Given the description of an element on the screen output the (x, y) to click on. 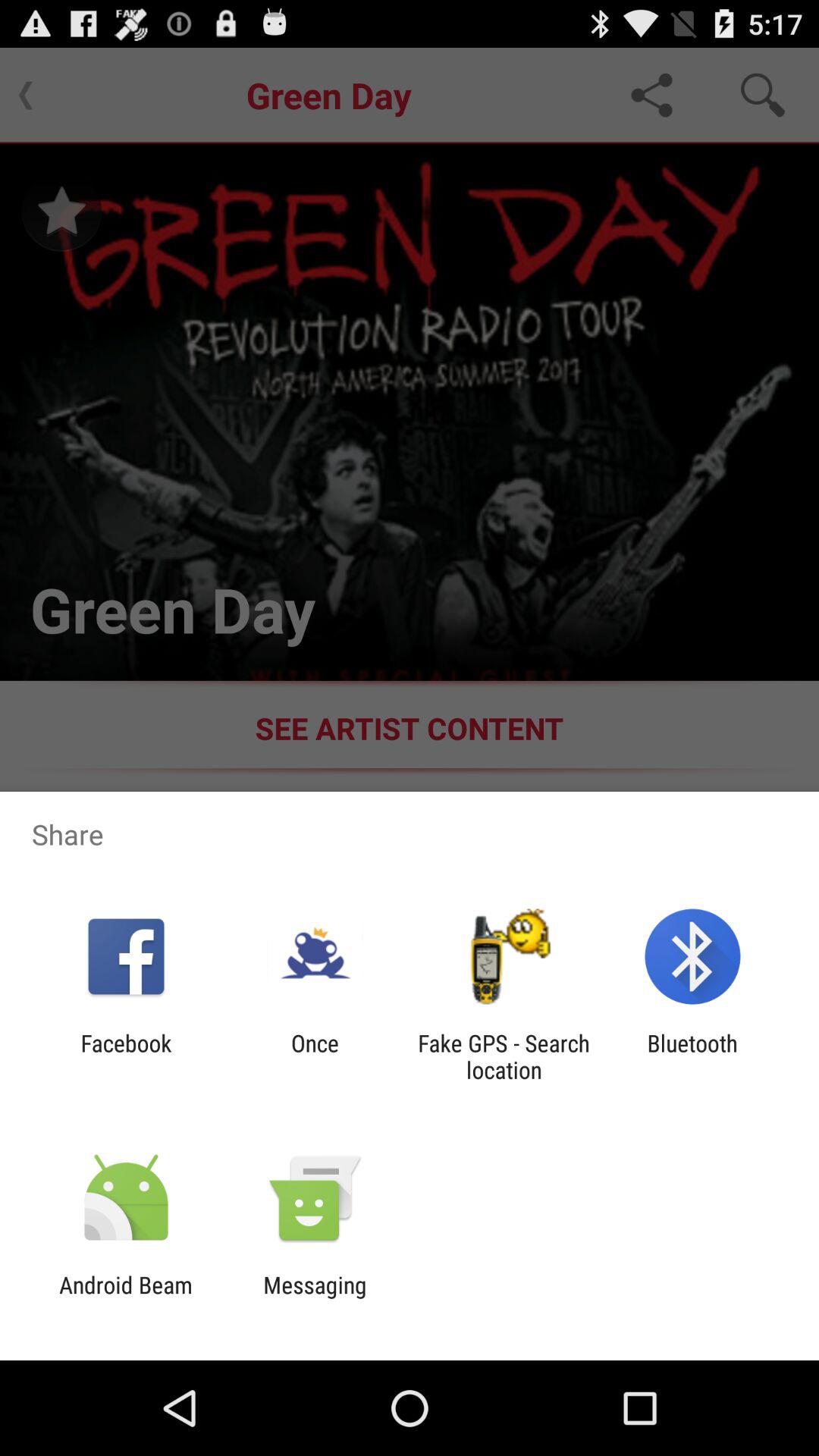
launch item to the right of the fake gps search (692, 1056)
